Given the description of an element on the screen output the (x, y) to click on. 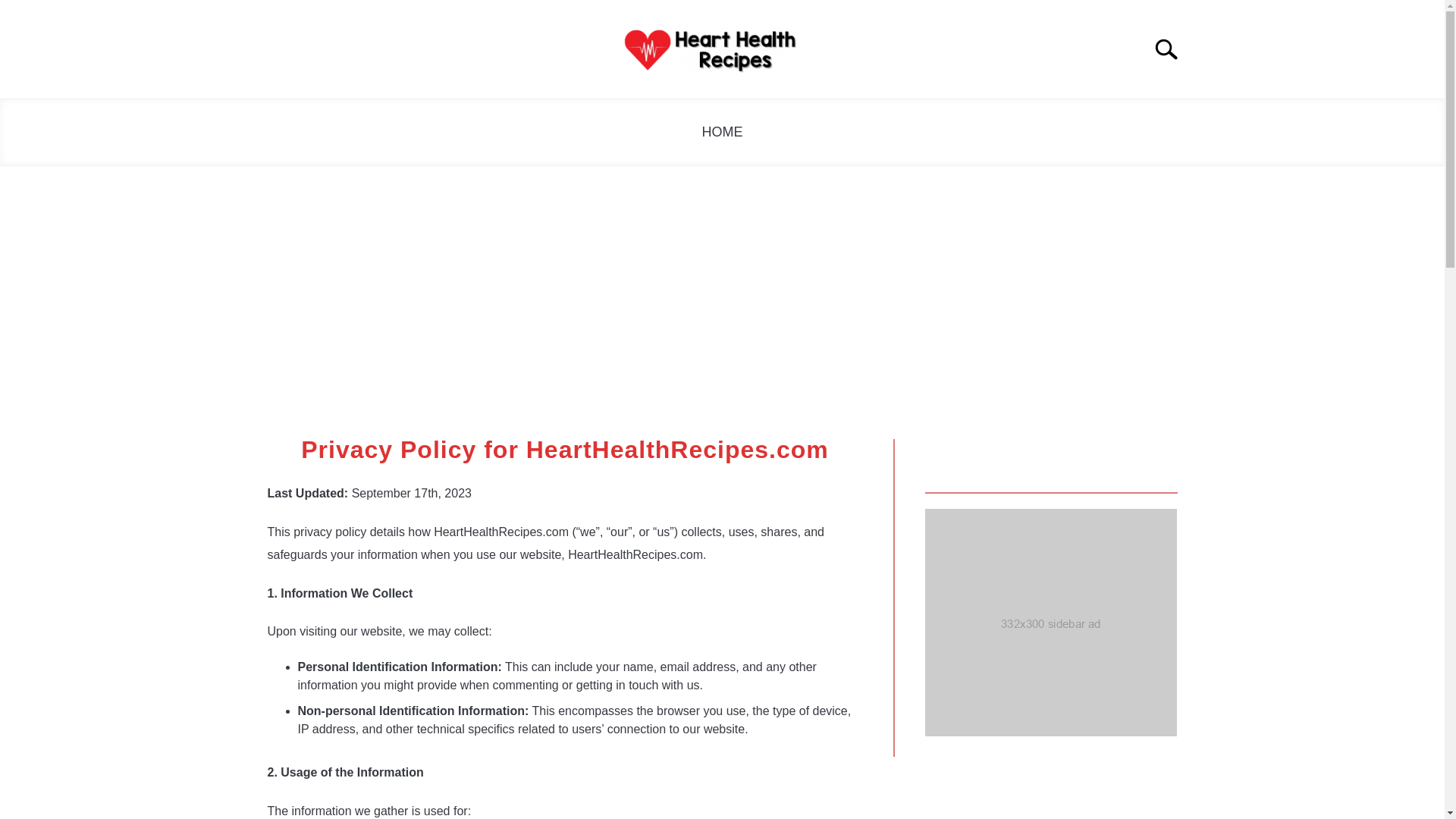
HOME (722, 131)
Search (1172, 49)
